Given the description of an element on the screen output the (x, y) to click on. 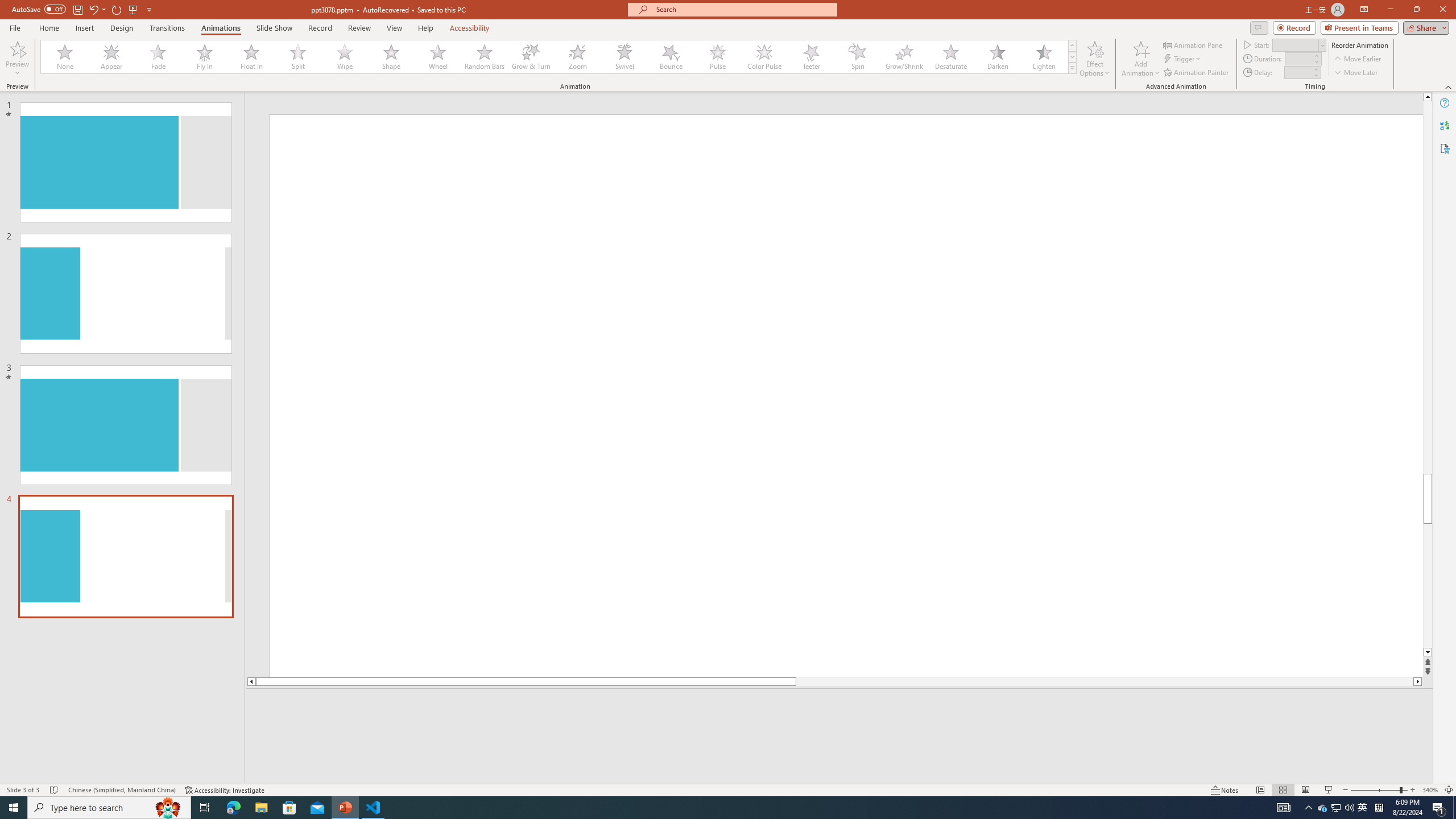
Teeter (810, 56)
Shape (391, 56)
Color Pulse (764, 56)
Appear (111, 56)
Animation Styles (1071, 67)
